Given the description of an element on the screen output the (x, y) to click on. 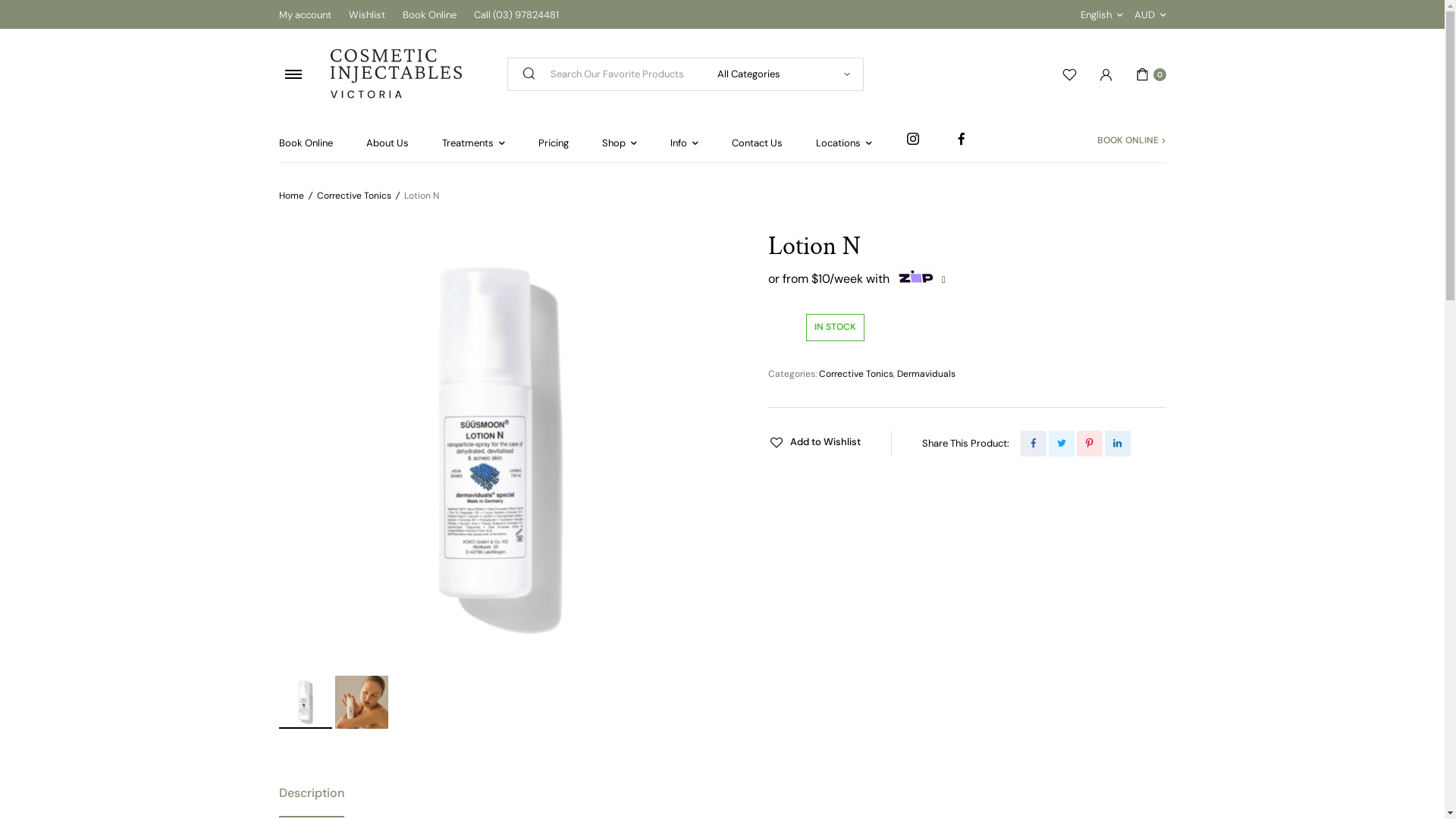
Corrective Tonics Element type: text (353, 195)
English Element type: text (1100, 14)
BOOK ONLINE > Element type: text (1130, 140)
Call (03) 97824481 Element type: text (515, 14)
Book Online Element type: text (428, 14)
AUD Element type: text (1150, 14)
Home Element type: text (291, 195)
Shop Element type: text (619, 143)
Cosmetic Injectables Victoria Element type: hover (395, 73)
Treatments Element type: text (472, 143)
Description Element type: text (311, 792)
Wishlist Element type: text (366, 14)
Corrective Tonics Element type: text (856, 373)
Book Online Element type: text (305, 143)
dermaviduals-Suusmoon-Face-Lotion-N-150ml Element type: hover (500, 451)
Locations Element type: text (843, 143)
About Us Element type: text (386, 143)
0 Element type: text (1150, 73)
Pricing Element type: text (553, 143)
Add to Wishlist Element type: text (813, 441)
Info Element type: text (684, 143)
Dermaviduals Element type: text (925, 373)
Contact Us Element type: text (756, 143)
My account Element type: text (305, 14)
